Given the description of an element on the screen output the (x, y) to click on. 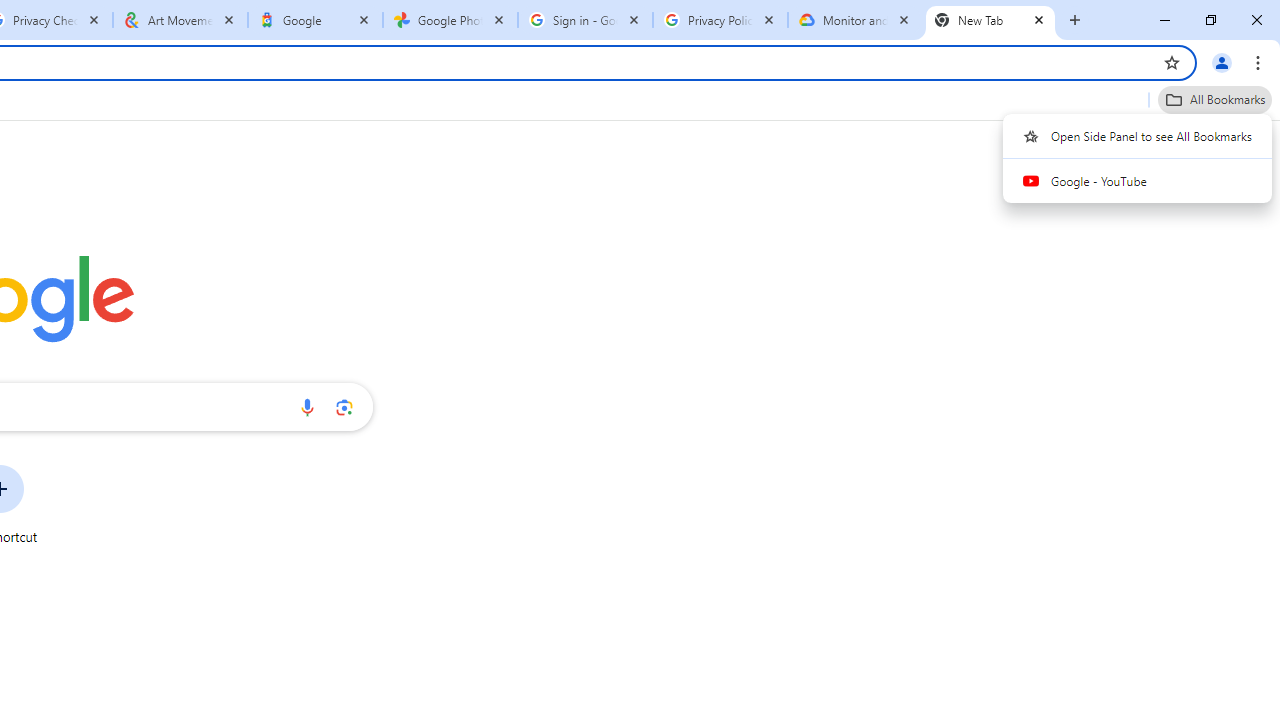
Google - YouTube (1137, 181)
Google (315, 20)
